Given the description of an element on the screen output the (x, y) to click on. 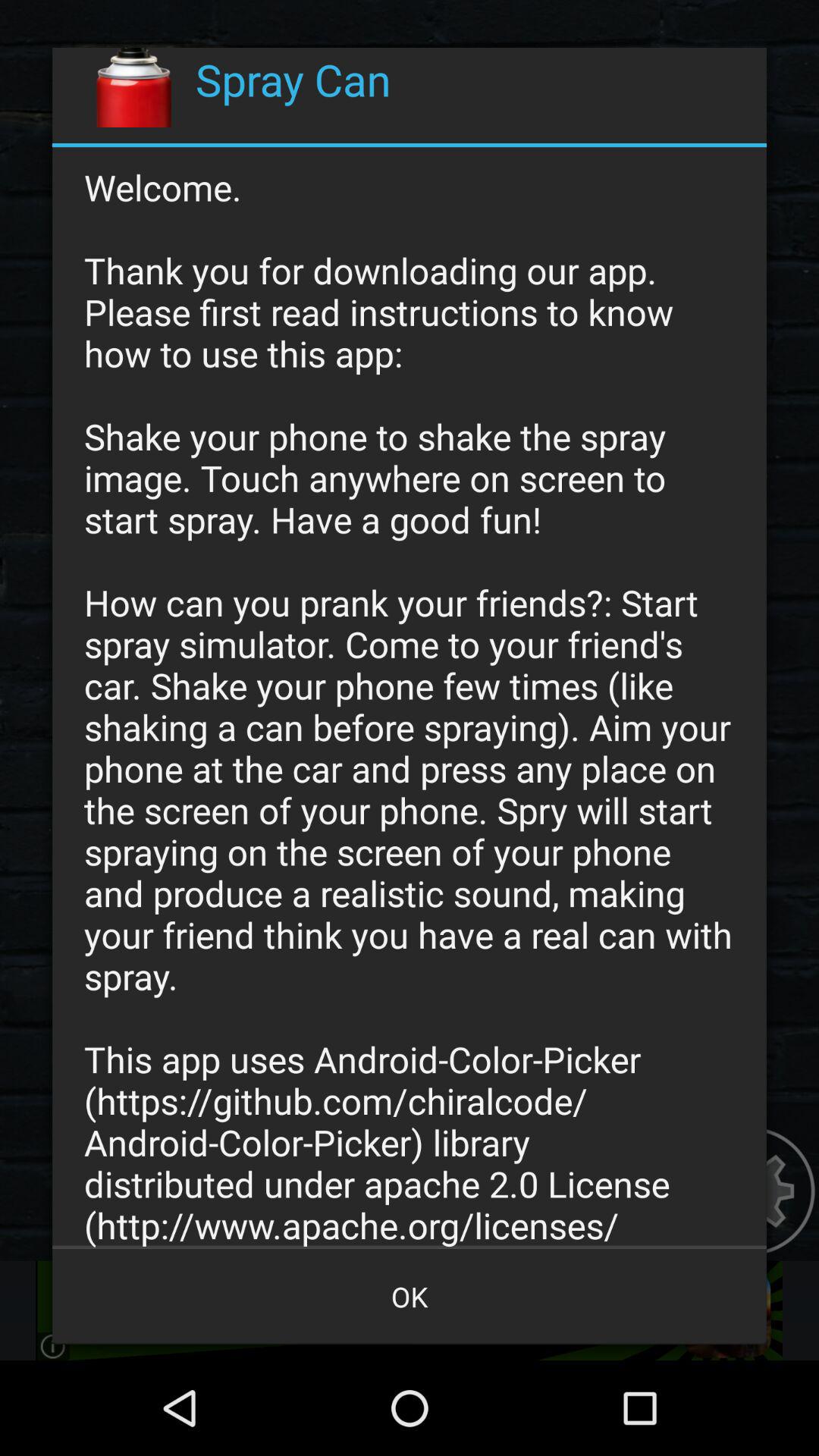
click button at the bottom (409, 1296)
